Given the description of an element on the screen output the (x, y) to click on. 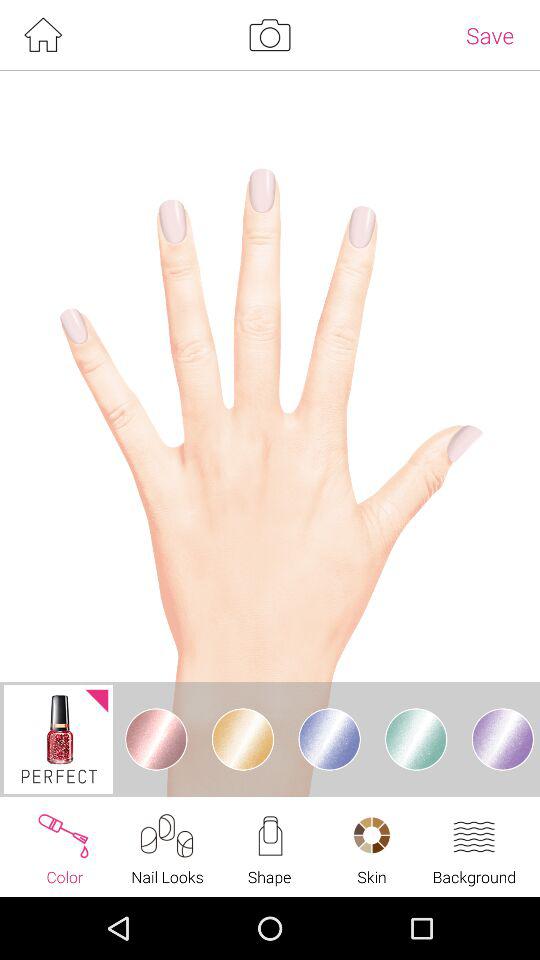
click save (490, 35)
